Given the description of an element on the screen output the (x, y) to click on. 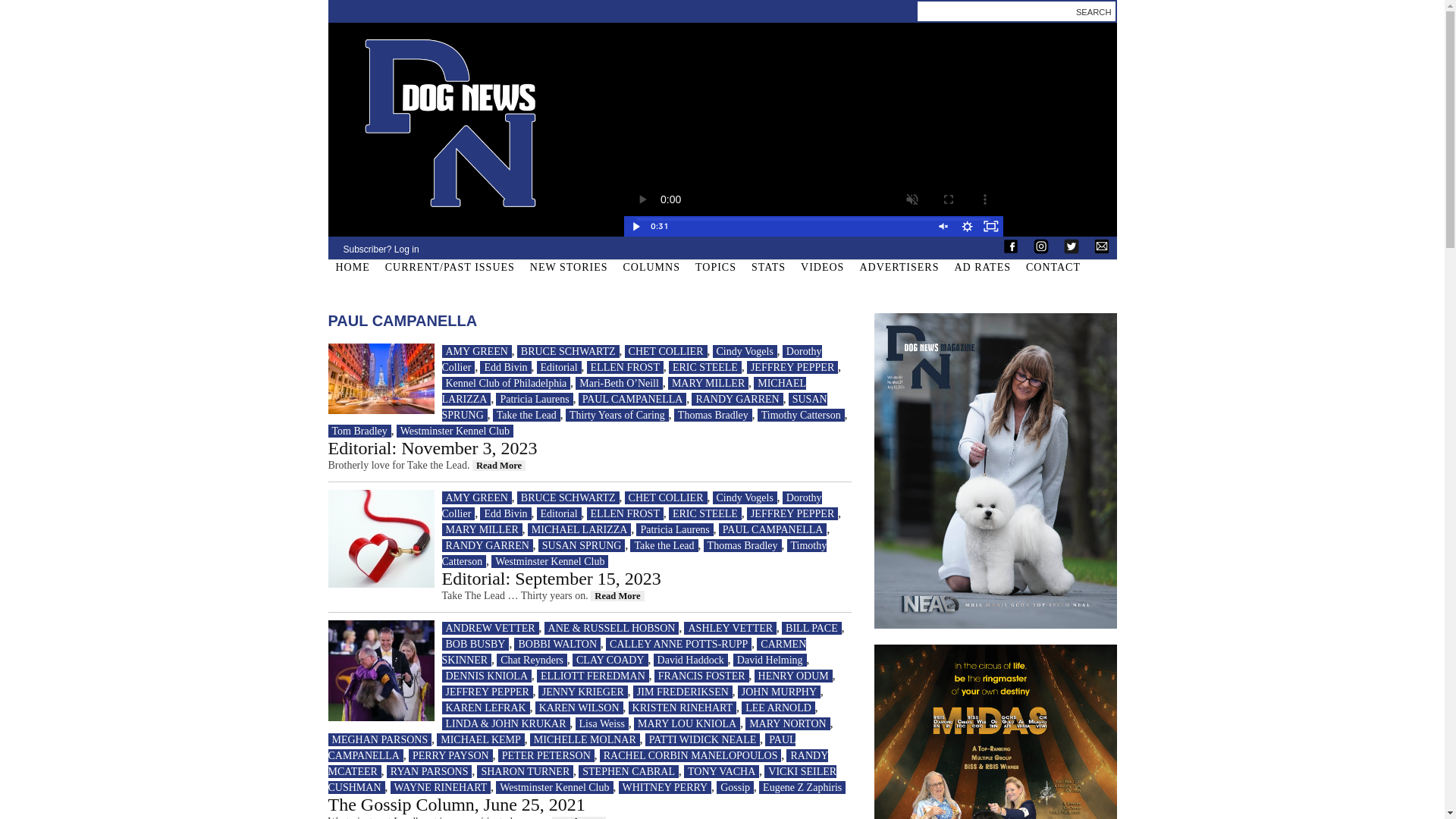
STATS (768, 267)
BRUCE SCHWARTZ (568, 350)
Dorothy Collier (631, 358)
Edd Bivin (505, 367)
Show settings menu (966, 226)
Editorial (558, 367)
Enter the terms you wish to search for. (992, 11)
CHET COLLIER (665, 350)
JEFFREY PEPPER (792, 367)
NEW STORIES (568, 267)
AMY GREEN (476, 350)
Fullscreen (990, 226)
Cindy Vogels (745, 350)
Play Video (634, 226)
